Given the description of an element on the screen output the (x, y) to click on. 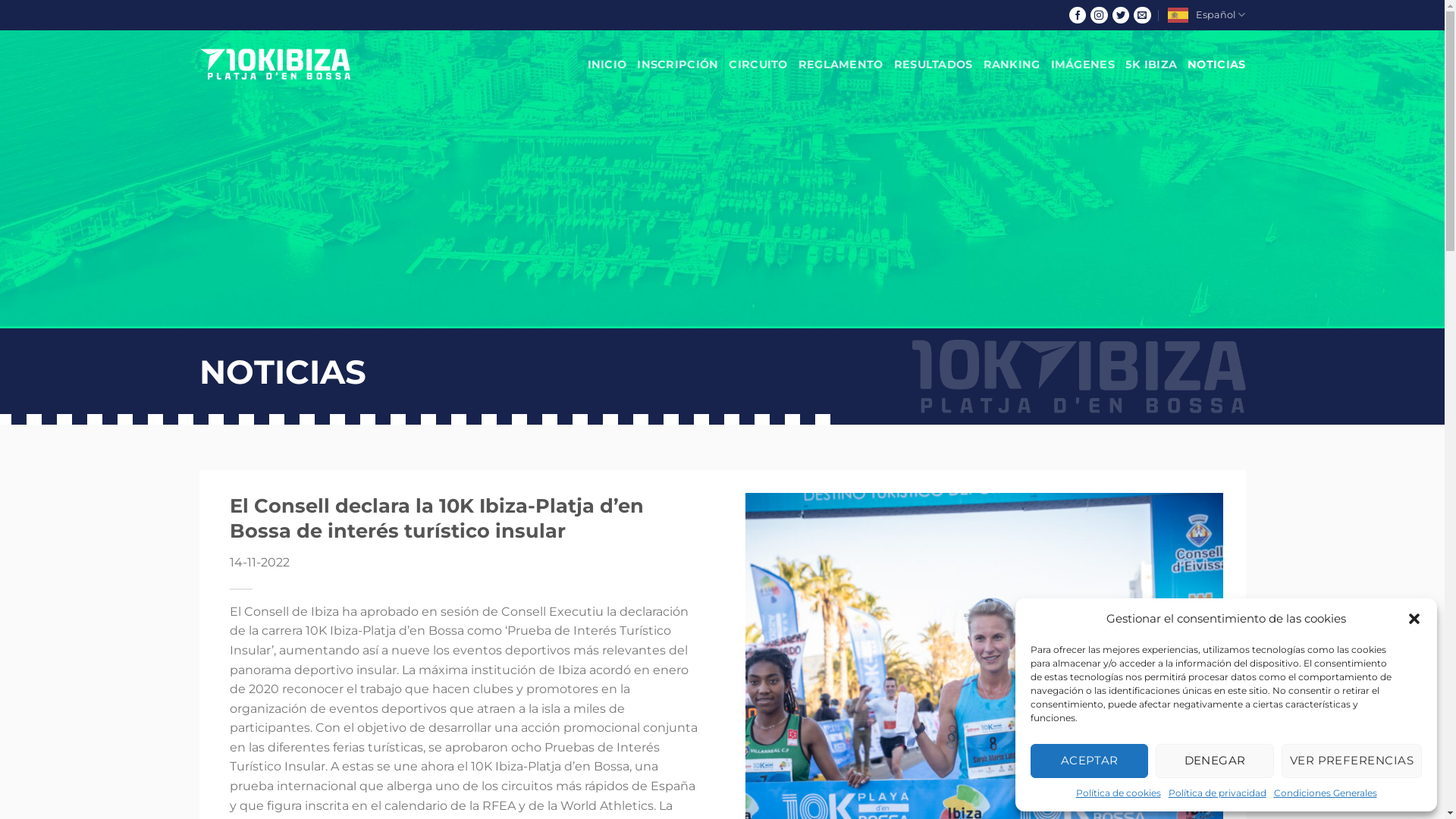
NOTICIAS Element type: text (1216, 64)
DENEGAR Element type: text (1214, 760)
CIRCUITO Element type: text (757, 64)
Condiciones Generales Element type: text (1325, 792)
RESULTADOS Element type: text (933, 64)
5K IBIZA Element type: text (1150, 64)
REGLAMENTO Element type: text (840, 64)
VER PREFERENCIAS Element type: text (1351, 760)
ACEPTAR Element type: text (1089, 760)
RANKING Element type: text (1011, 64)
INICIO Element type: text (607, 64)
